Given the description of an element on the screen output the (x, y) to click on. 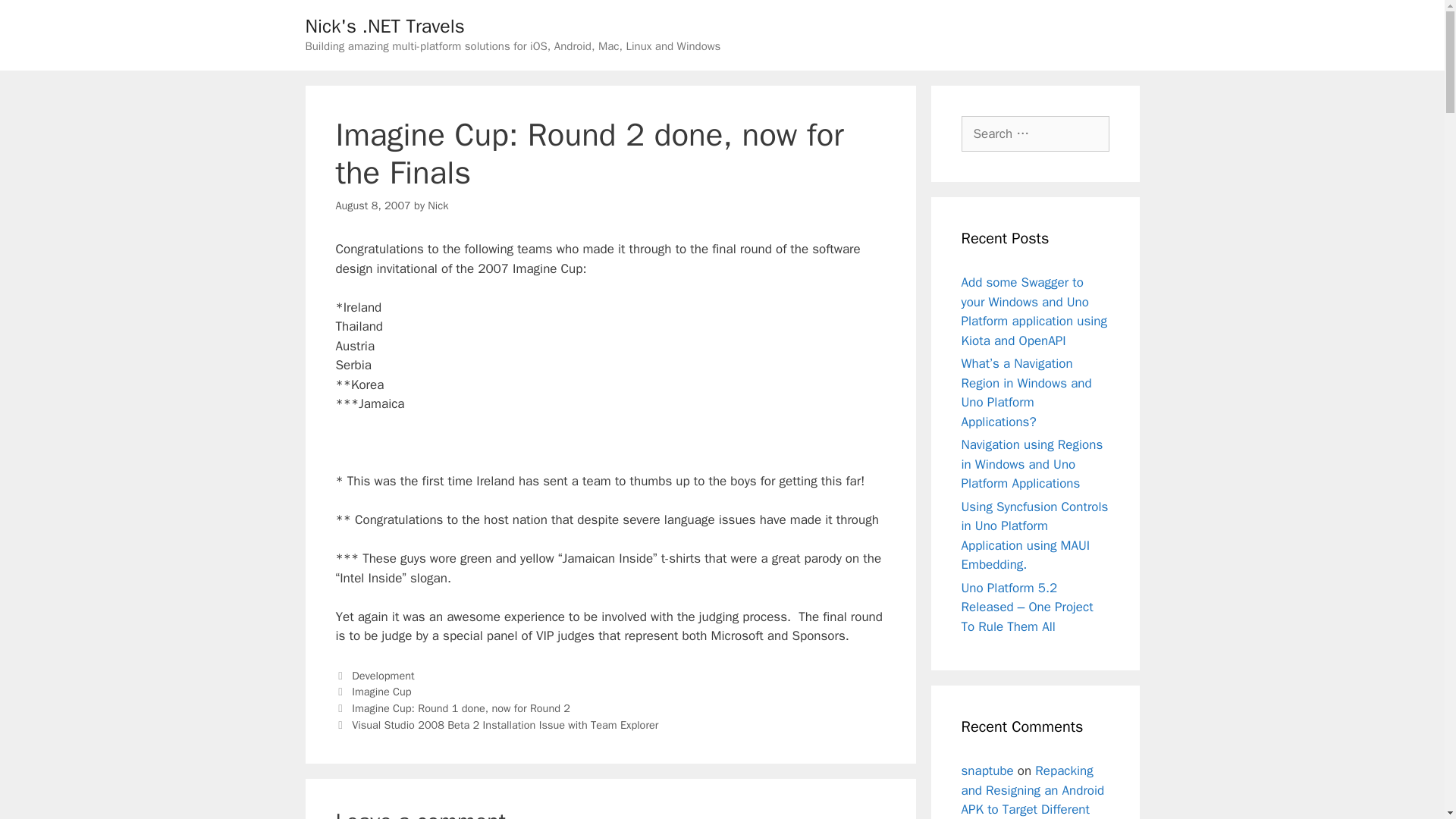
Development (382, 675)
Nick (438, 205)
Search (35, 18)
Nick's .NET Travels (384, 25)
Imagine Cup (381, 691)
snaptube (986, 770)
Search for: (1034, 133)
View all posts by Nick (438, 205)
Imagine Cup: Round 1 done, now for Round 2 (461, 707)
